Given the description of an element on the screen output the (x, y) to click on. 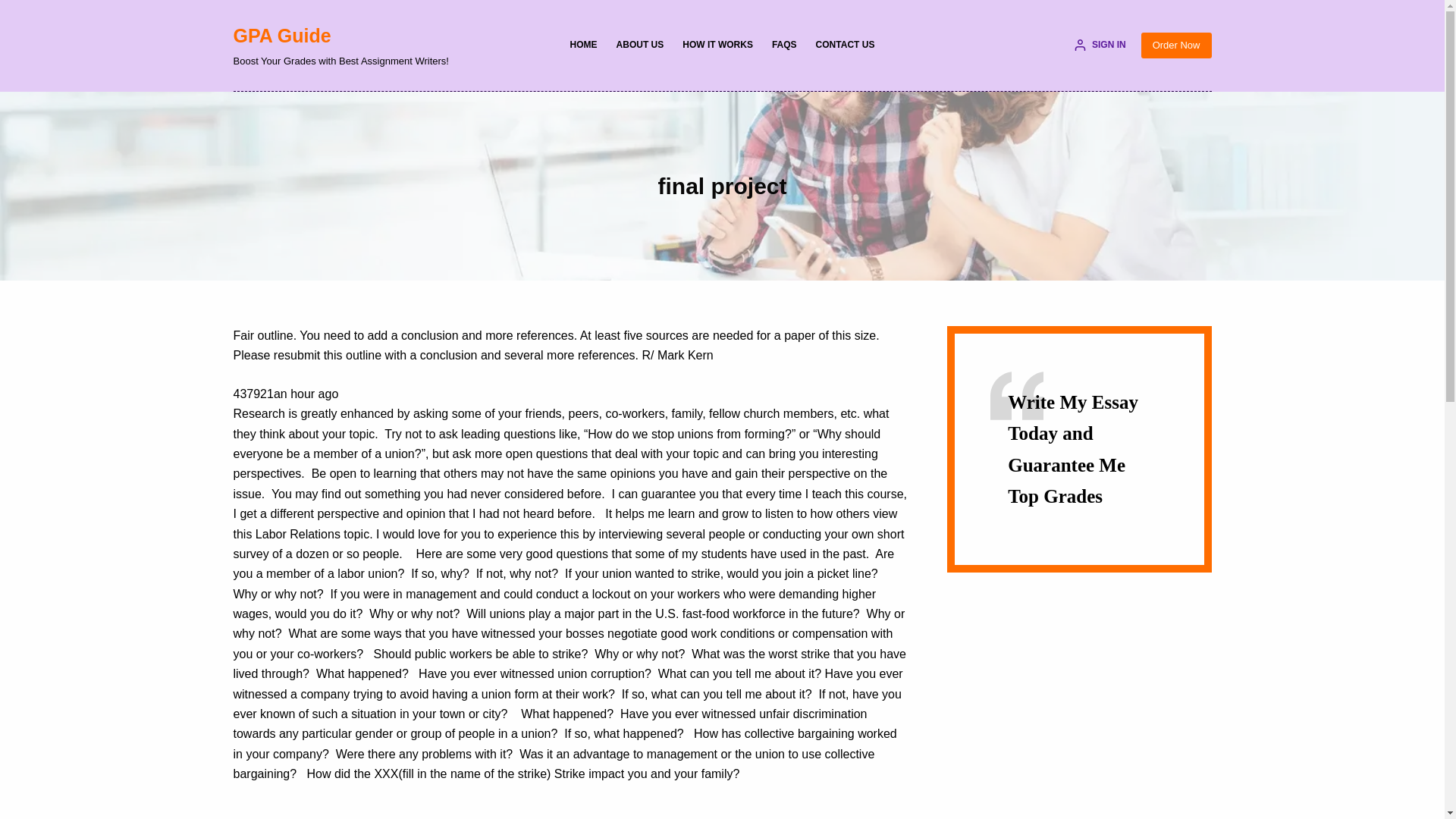
Order Now (1176, 45)
GPA Guide (281, 35)
Skip to content (15, 7)
SIGN IN (1099, 45)
final project (722, 185)
HOW IT WORKS (717, 45)
